Given the description of an element on the screen output the (x, y) to click on. 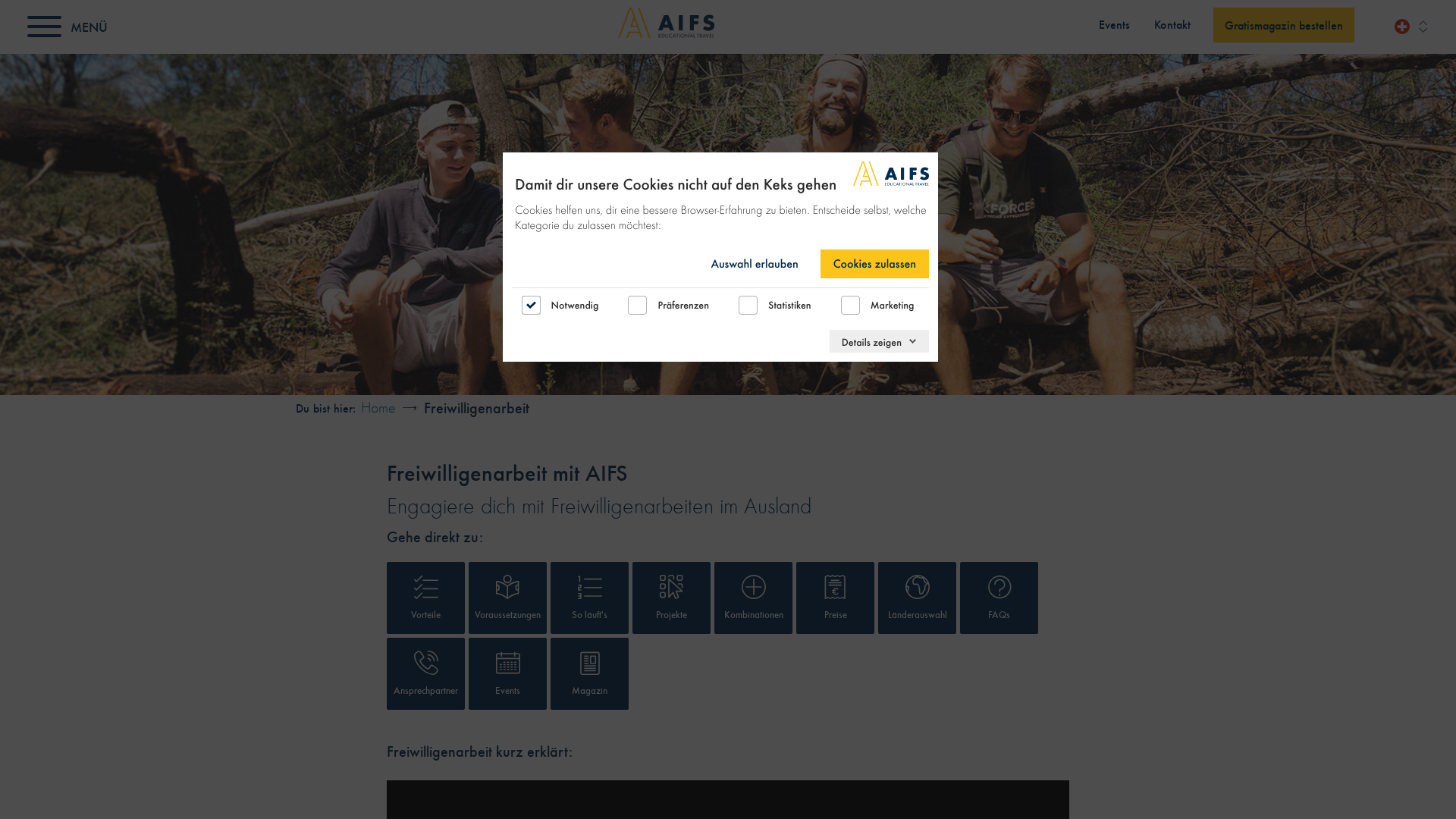
Kombinationen Element type: text (753, 597)
Ansprechpartner Element type: text (425, 673)
Events Element type: text (1114, 23)
Preise Element type: text (835, 597)
Voraussetzungen Element type: text (507, 597)
FAQs Element type: text (998, 597)
Details zeigen Element type: text (878, 341)
AIFS EDUCATIONAL TRAVEL Element type: hover (666, 22)
Gratismagazin bestellen Element type: text (1283, 24)
Freiwilligenarbeit Element type: text (476, 407)
Auswahl erlauben Element type: text (753, 263)
Kontakt Element type: text (1171, 23)
Home Element type: text (377, 406)
Vorteile Element type: text (425, 597)
Cookies zulassen Element type: text (874, 263)
Events Element type: text (507, 673)
Projekte Element type: text (671, 597)
Magazin Element type: text (589, 673)
